Given the description of an element on the screen output the (x, y) to click on. 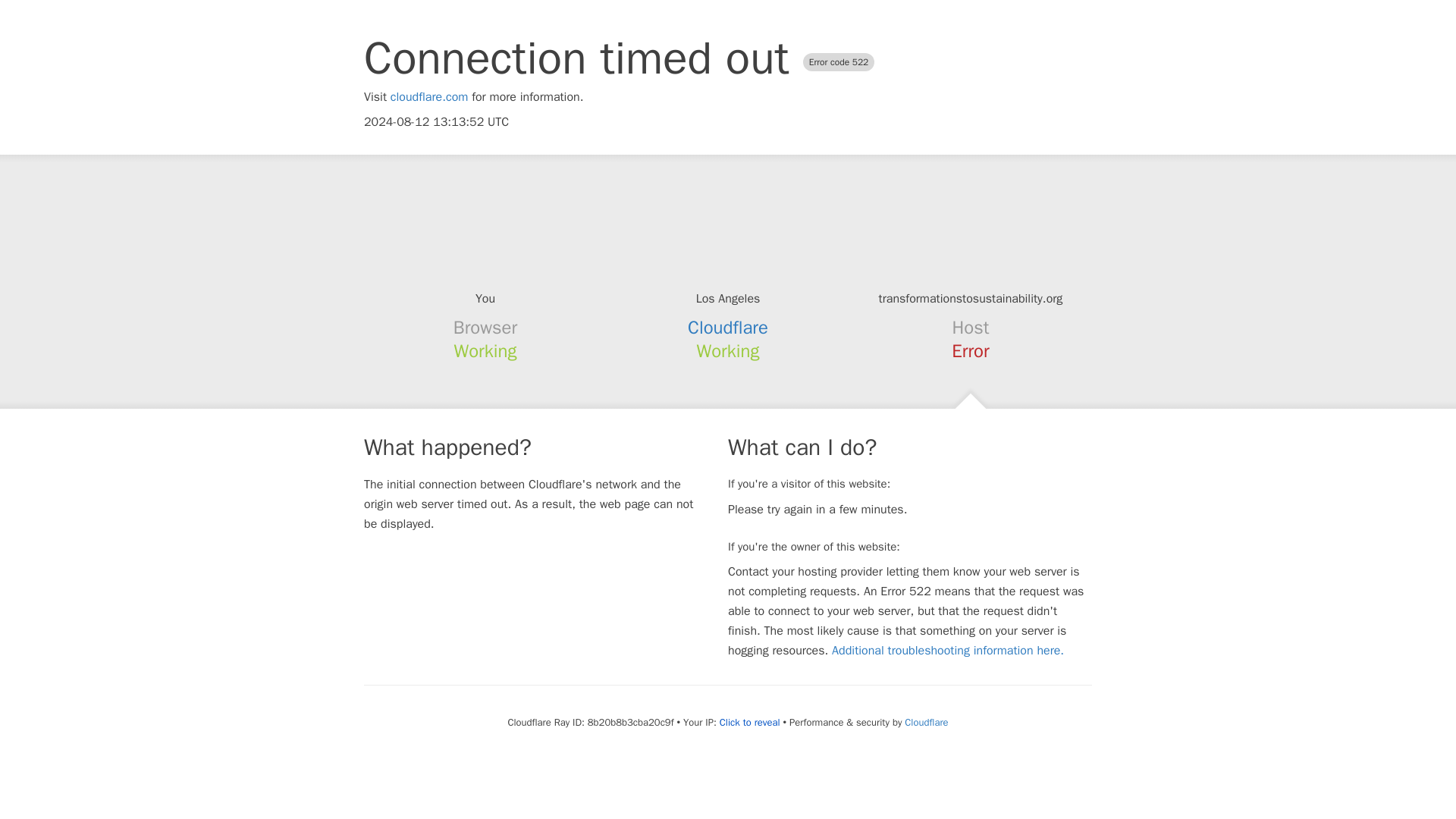
cloudflare.com (429, 96)
Cloudflare (727, 327)
Cloudflare (925, 721)
Click to reveal (749, 722)
Additional troubleshooting information here. (947, 650)
